Given the description of an element on the screen output the (x, y) to click on. 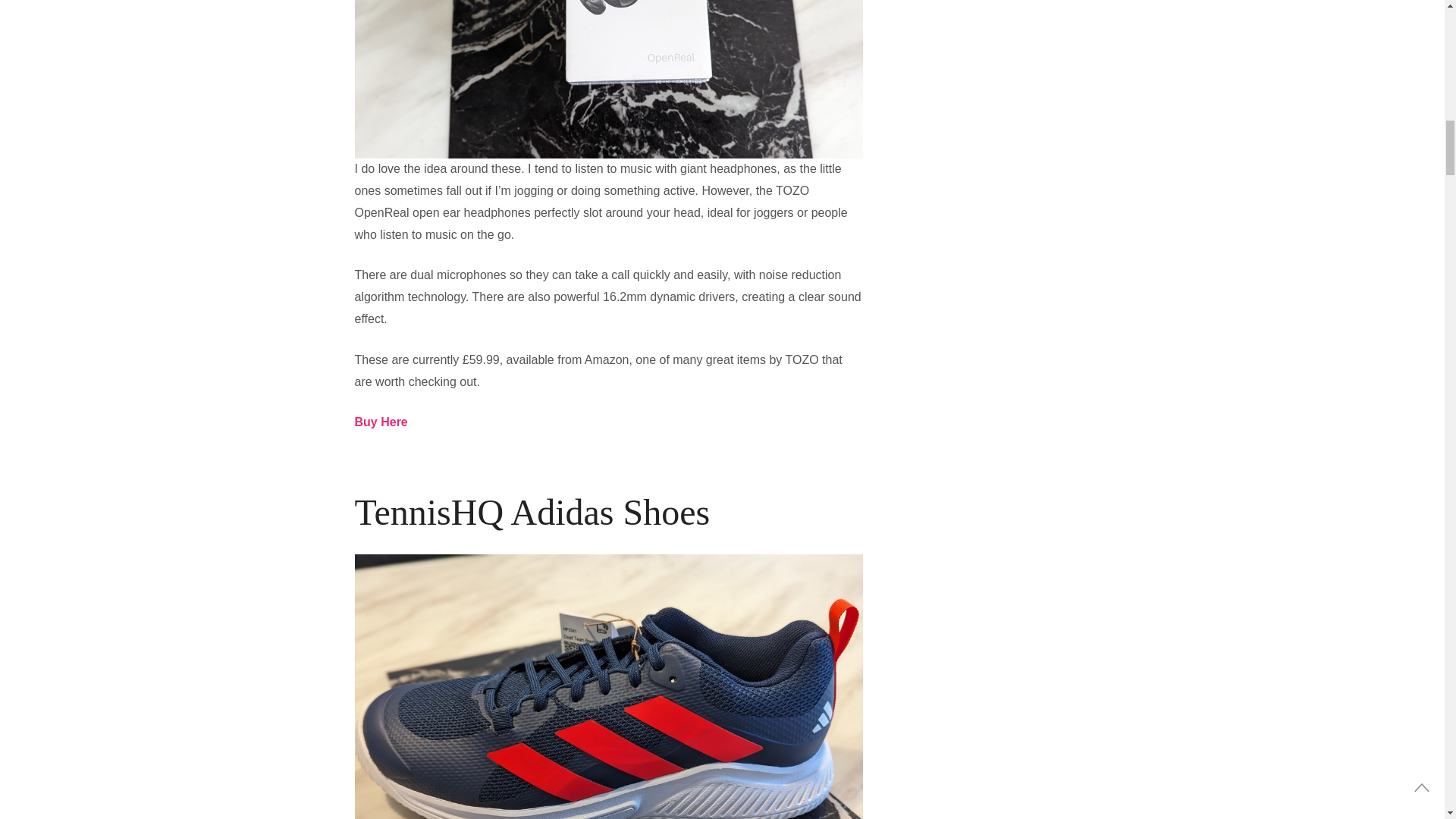
Buy Here (381, 421)
